Given the description of an element on the screen output the (x, y) to click on. 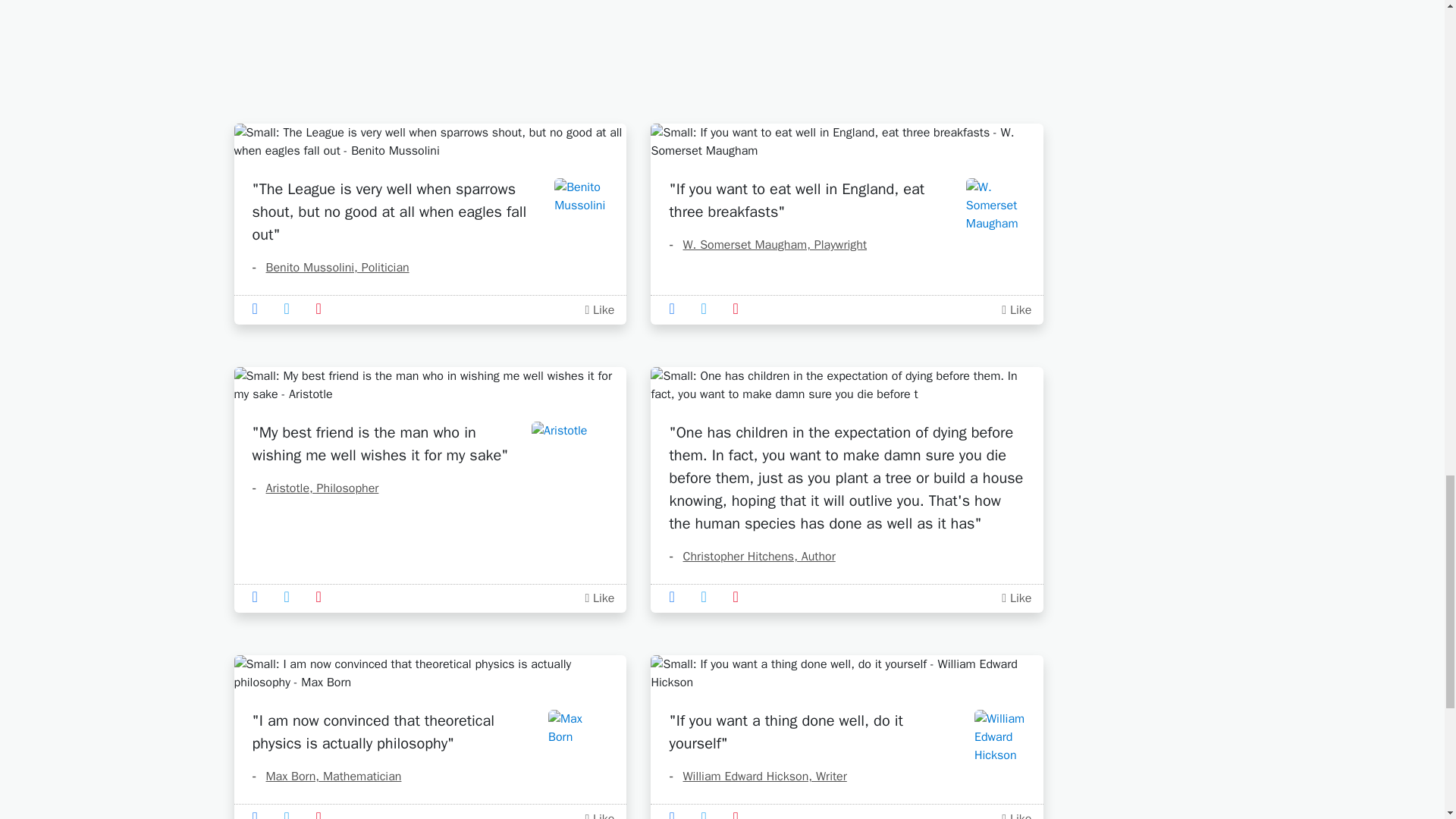
Benito Mussolini, Politician (330, 267)
William Edward Hickson, Writer (756, 776)
Christopher Hitchens, Author (751, 556)
Aristotle, Philosopher (314, 488)
W. Somerset Maugham, Playwright (767, 244)
Max Born, Mathematician (326, 776)
